Given the description of an element on the screen output the (x, y) to click on. 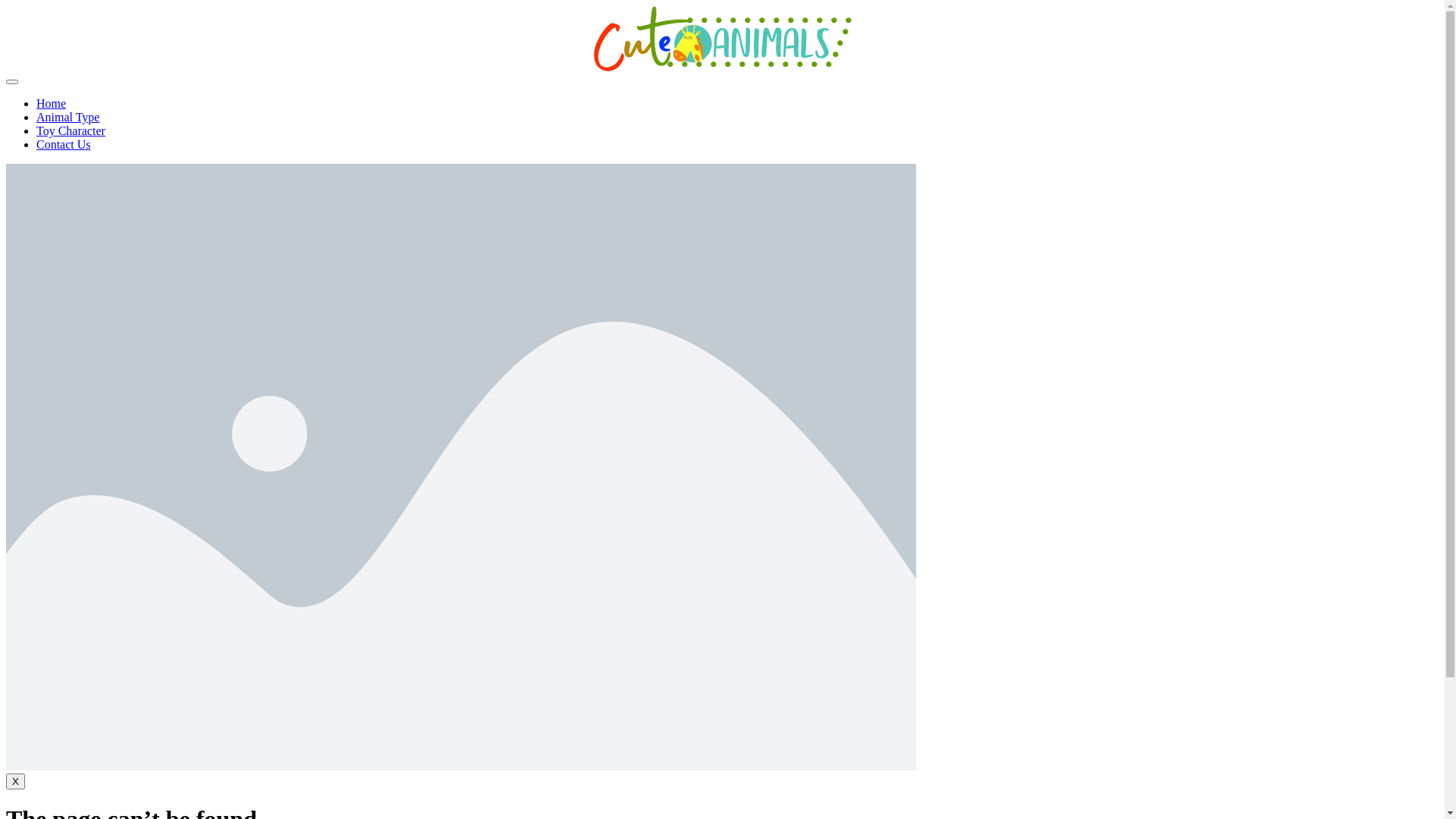
X Element type: text (15, 781)
Animal Type Element type: text (67, 116)
Home Element type: text (50, 103)
Contact Us Element type: text (63, 144)
Toy Character Element type: text (70, 130)
